Given the description of an element on the screen output the (x, y) to click on. 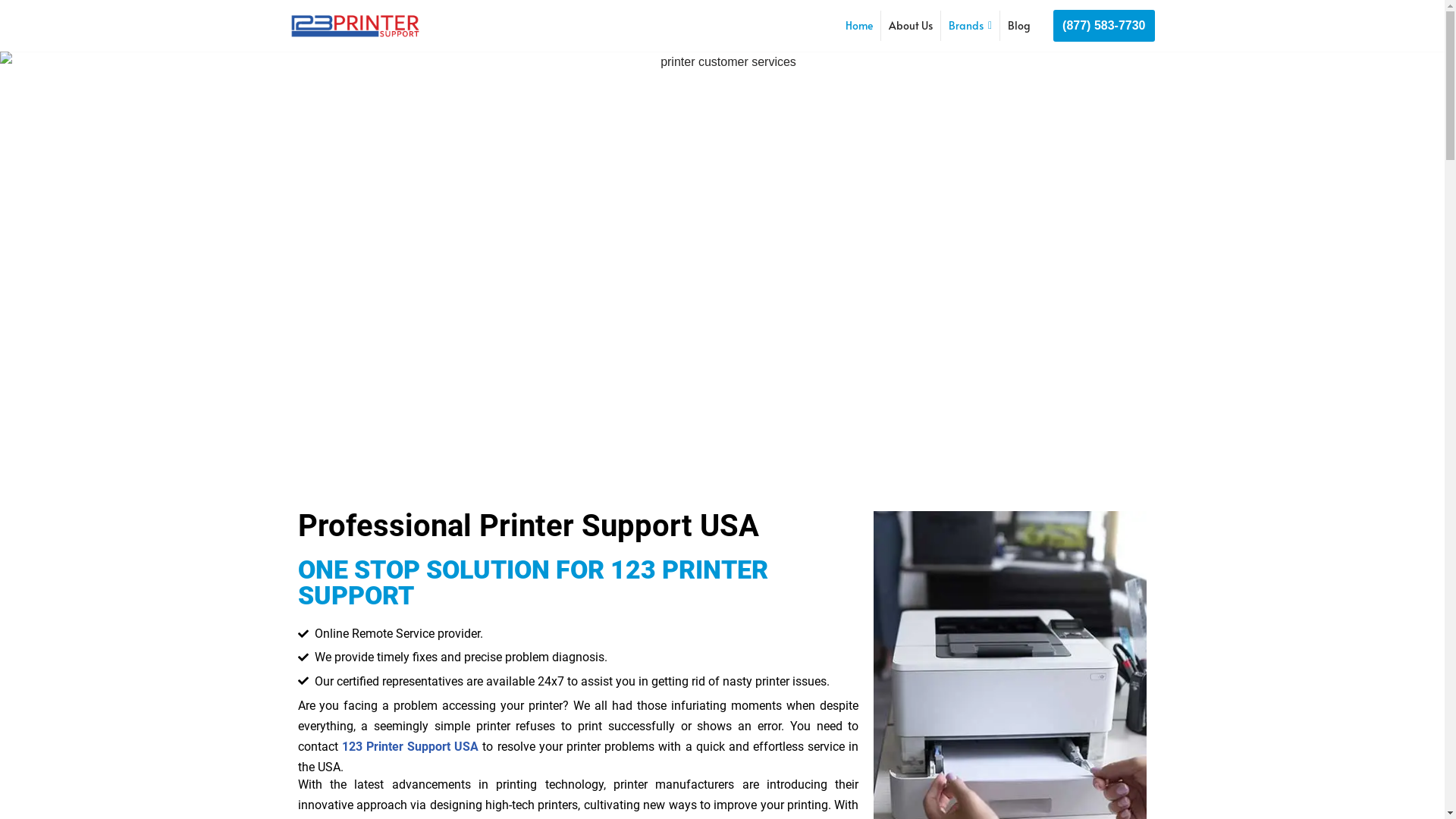
123printersupport Element type: hover (353, 25)
Brands Element type: text (970, 25)
Home Element type: text (858, 25)
123 Printer Support USA Element type: text (410, 746)
(877) 583-7730 Element type: text (1103, 25)
Skip to content Element type: text (11, 31)
Blog Element type: text (1019, 25)
About Us Element type: text (910, 25)
